Given the description of an element on the screen output the (x, y) to click on. 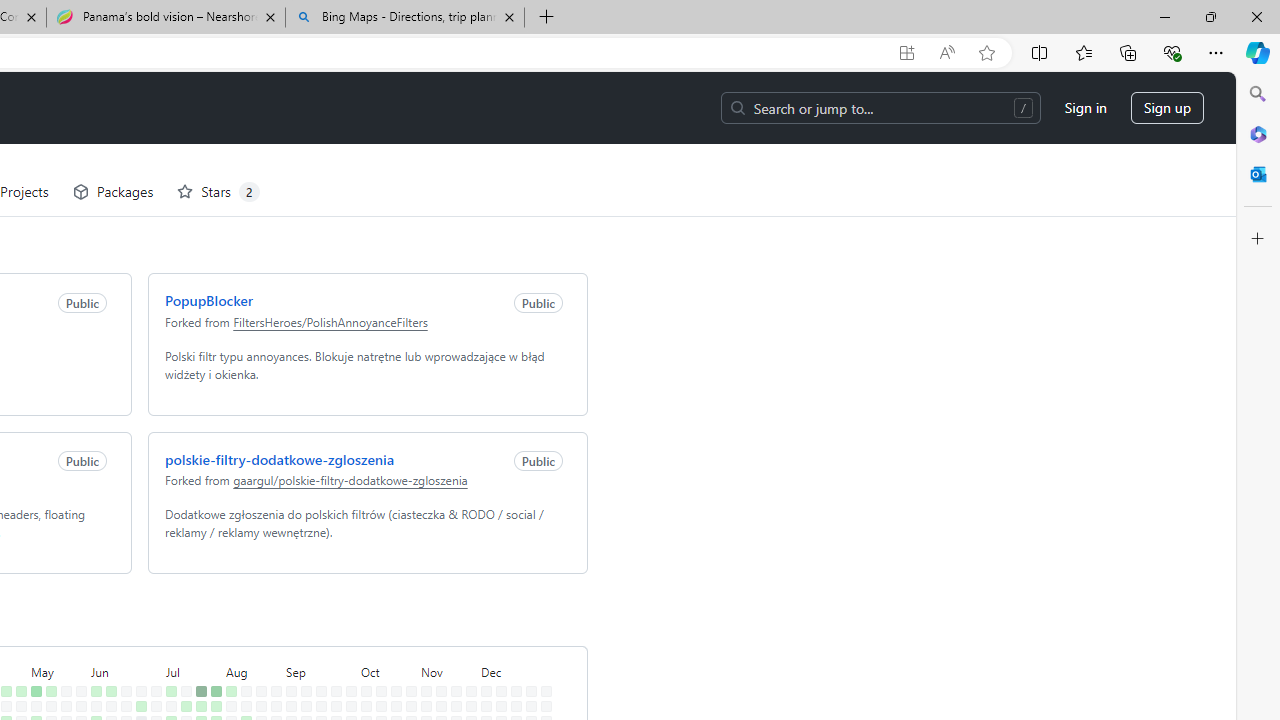
No contributions on November 25th. (467, 634)
No contributions on September 8th. (302, 619)
2 contributions on June 2nd. (92, 619)
1 contribution on June 24th. (137, 634)
No contributions on September 26th. (331, 678)
No contributions on April 29th. (17, 634)
No contributions on October 30th. (407, 664)
3 contributions on June 27th. (137, 678)
No contributions on August 11th. (242, 619)
No contributions on November 12th. (437, 649)
No contributions on May 13th. (47, 634)
No contributions on September 10th. (302, 649)
2 contributions on May 12th. (47, 619)
